Given the description of an element on the screen output the (x, y) to click on. 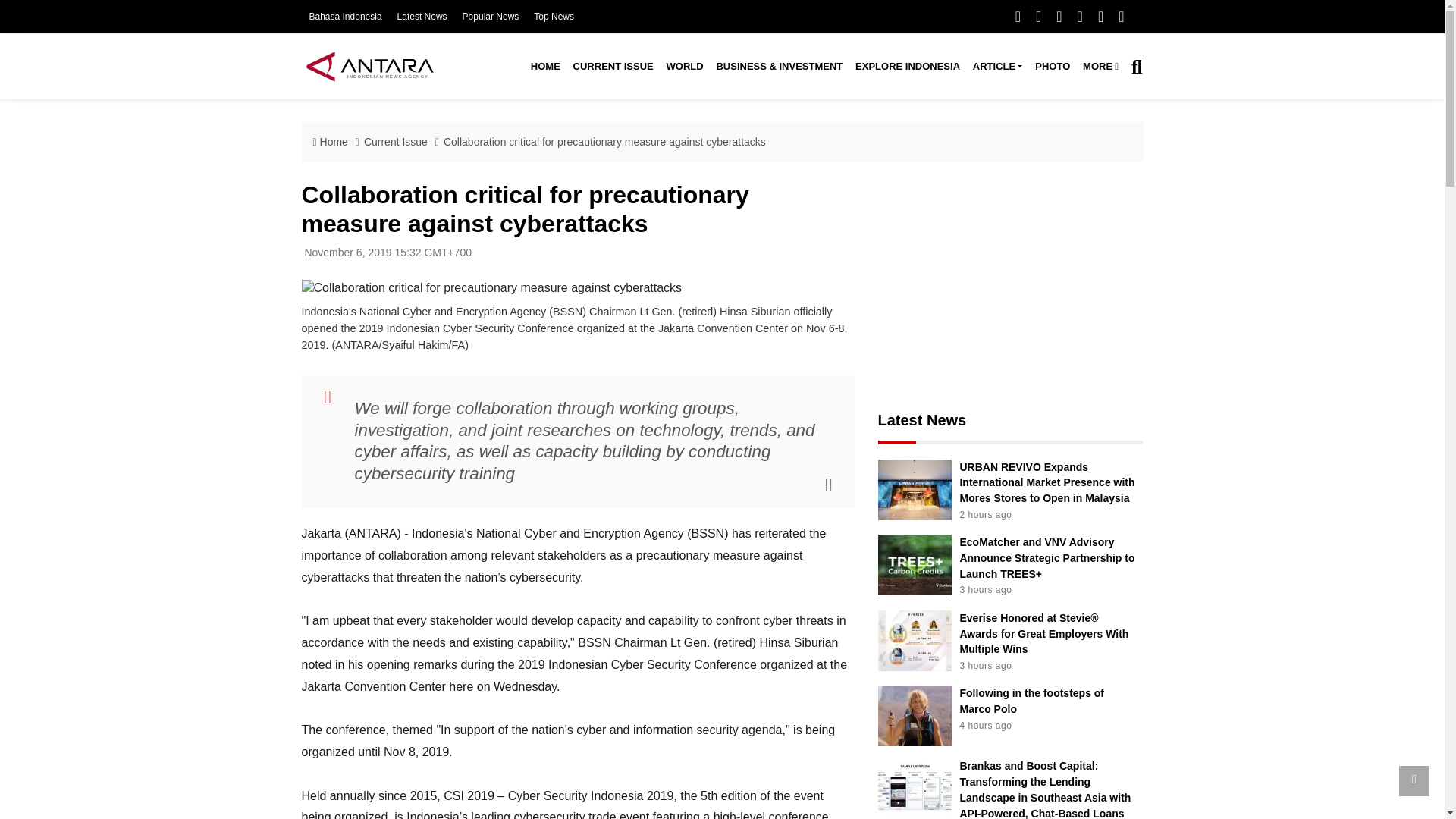
Explore Indonesia (907, 66)
CURRENT ISSUE (612, 66)
Top News (553, 16)
Bahasa Indonesia (344, 16)
Popular News (491, 16)
Current Issue (612, 66)
EXPLORE INDONESIA (907, 66)
Top News (553, 16)
ARTICLE (996, 66)
Latest News (421, 16)
